Given the description of an element on the screen output the (x, y) to click on. 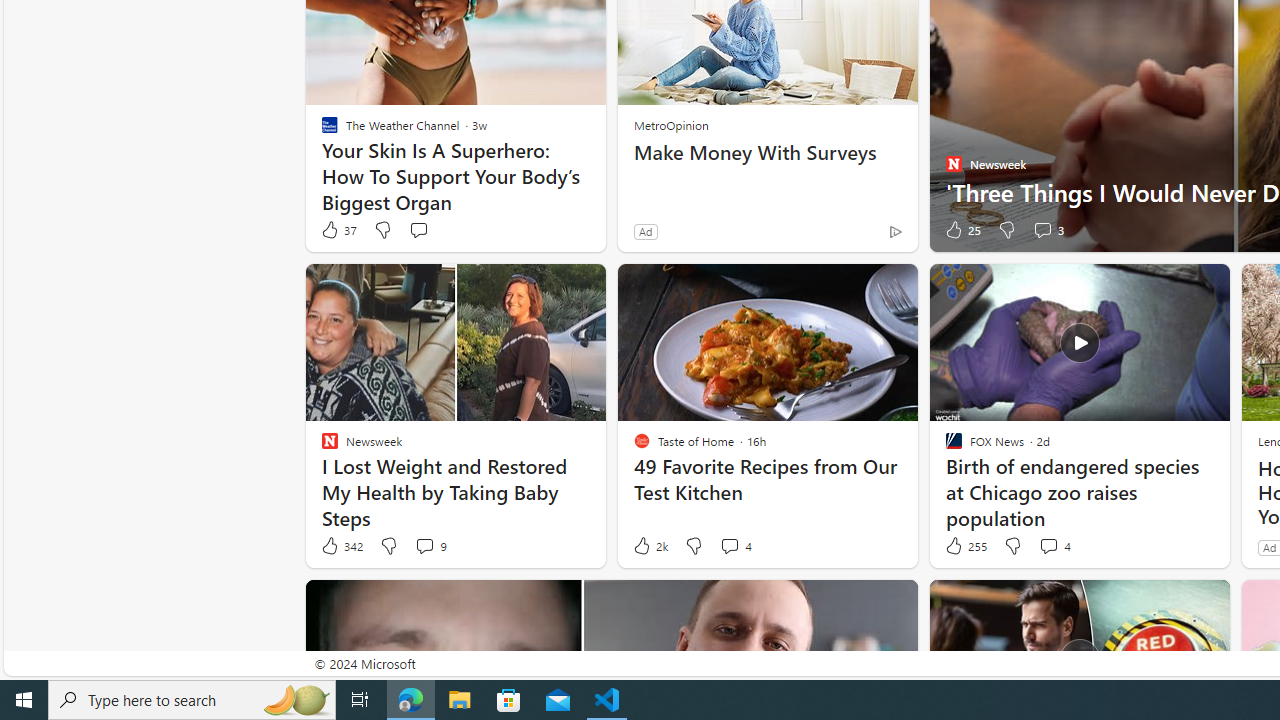
Hide this story (1169, 603)
View comments 3 Comment (1042, 229)
View comments 9 Comment (429, 546)
